Given the description of an element on the screen output the (x, y) to click on. 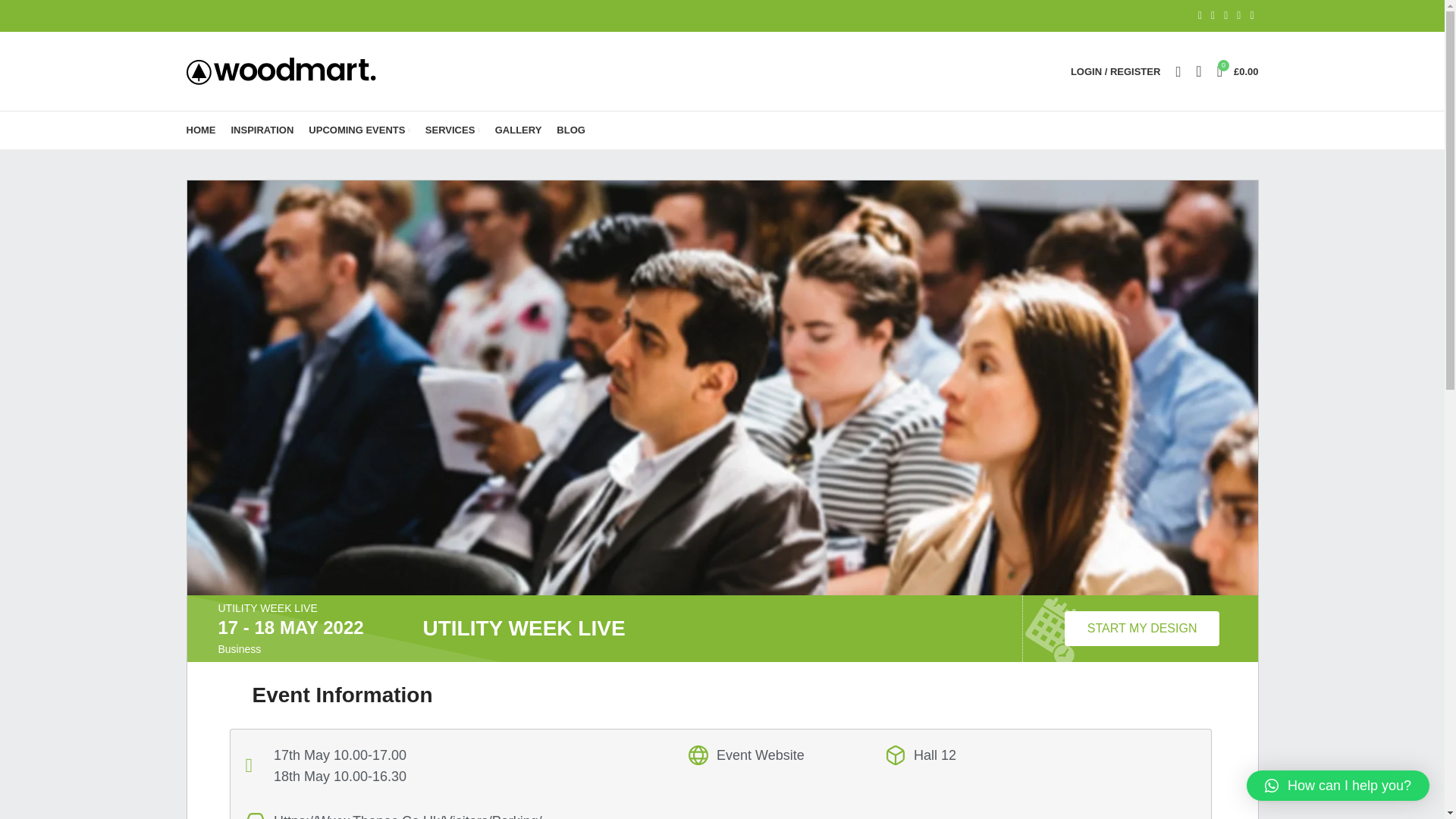
HOME (201, 130)
Search (1177, 71)
INSPIRATION (261, 130)
Shopping cart (1237, 71)
My account (1114, 71)
Log in (1034, 309)
My Wishlist (1198, 71)
UPCOMING EVENTS (359, 130)
